Given the description of an element on the screen output the (x, y) to click on. 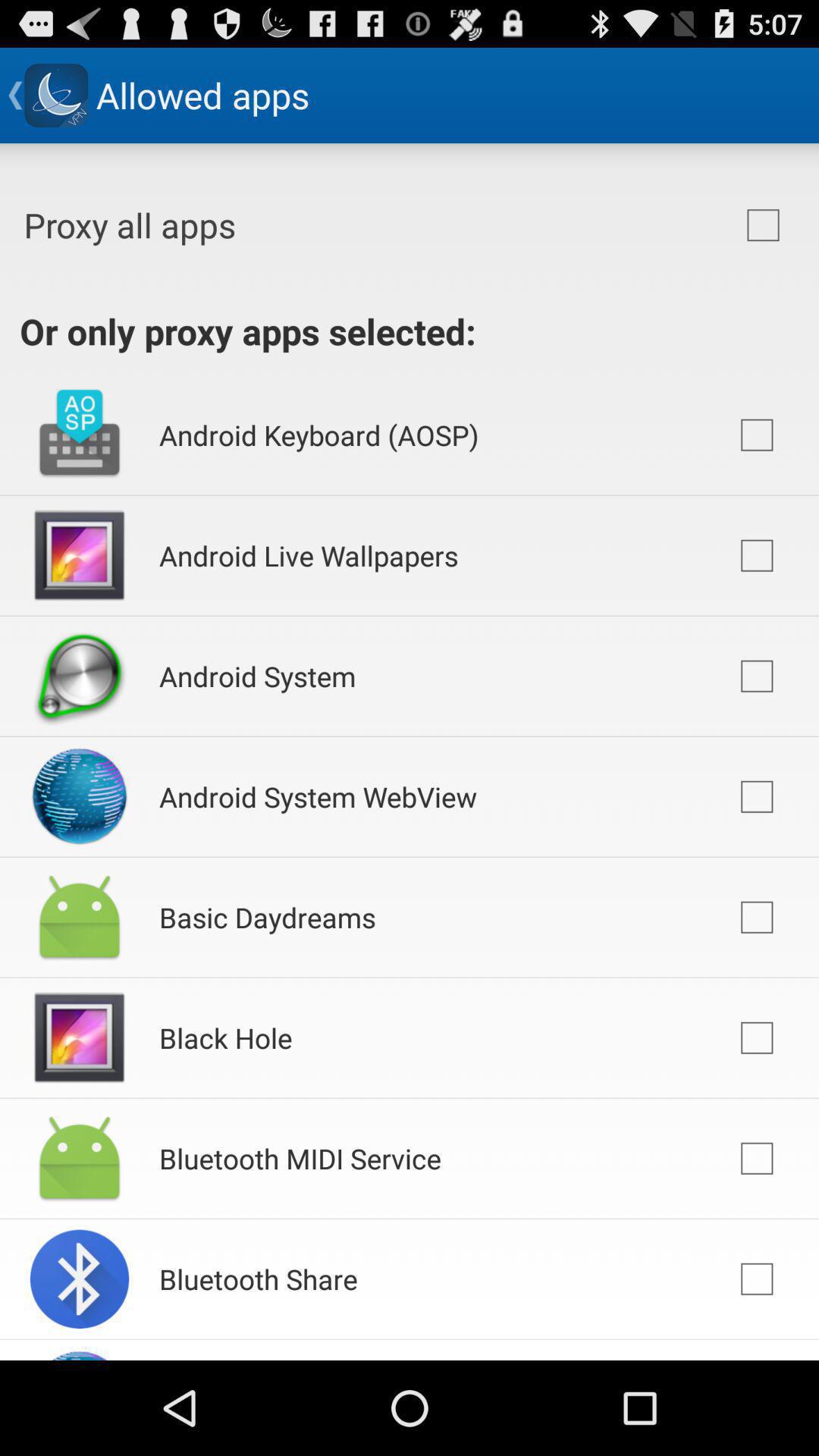
turn off android keyboard (aosp) app (318, 434)
